Given the description of an element on the screen output the (x, y) to click on. 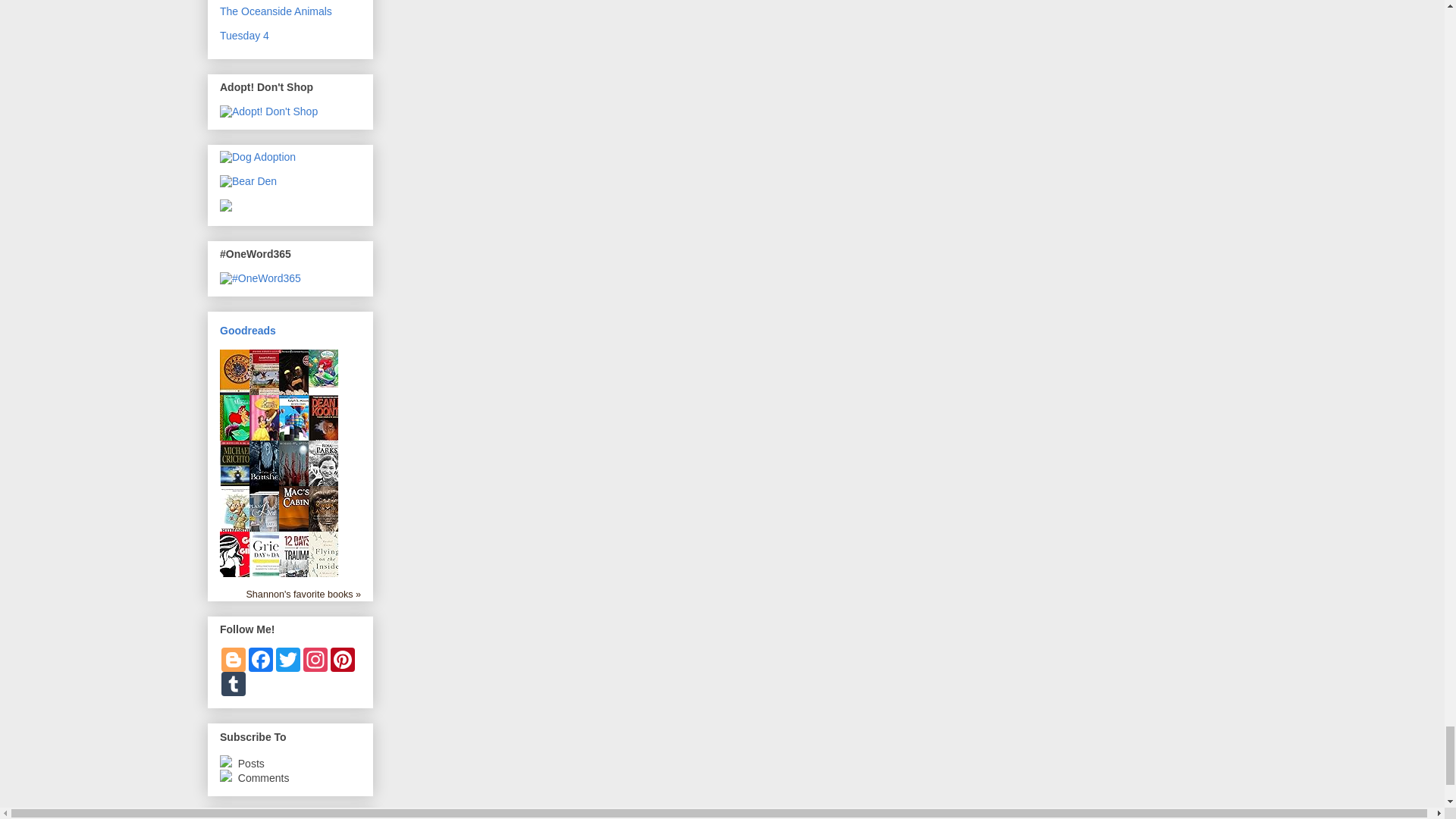
Aesop's Fables (266, 402)
Disney's The Little Mermaid (238, 437)
Disney's The Little Mermaid (327, 383)
Disney's Beauty and the Beast (267, 448)
The Odyssey (238, 402)
